Given the description of an element on the screen output the (x, y) to click on. 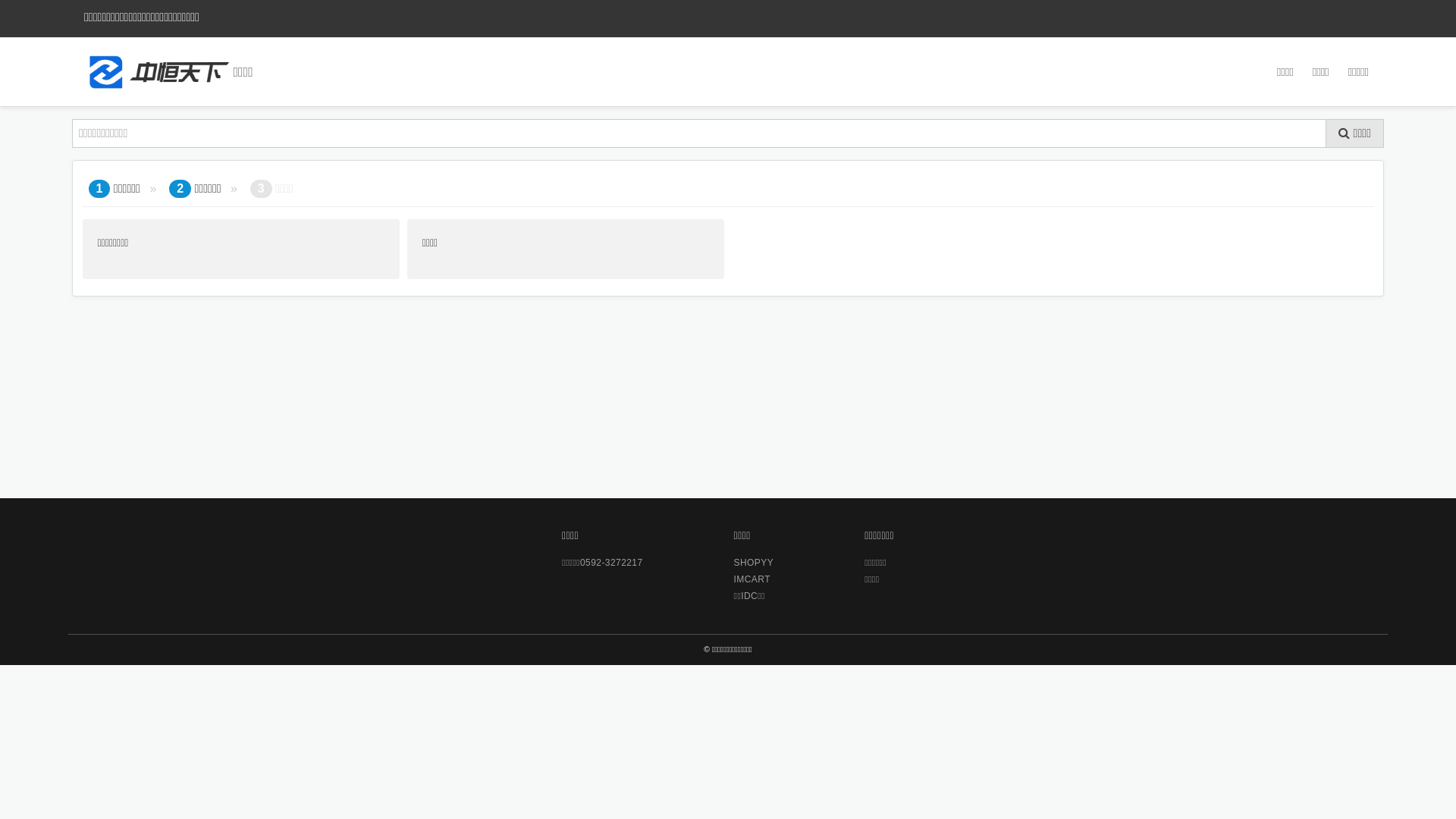
SHOPYY Element type: text (754, 562)
IMCART Element type: text (754, 579)
